Given the description of an element on the screen output the (x, y) to click on. 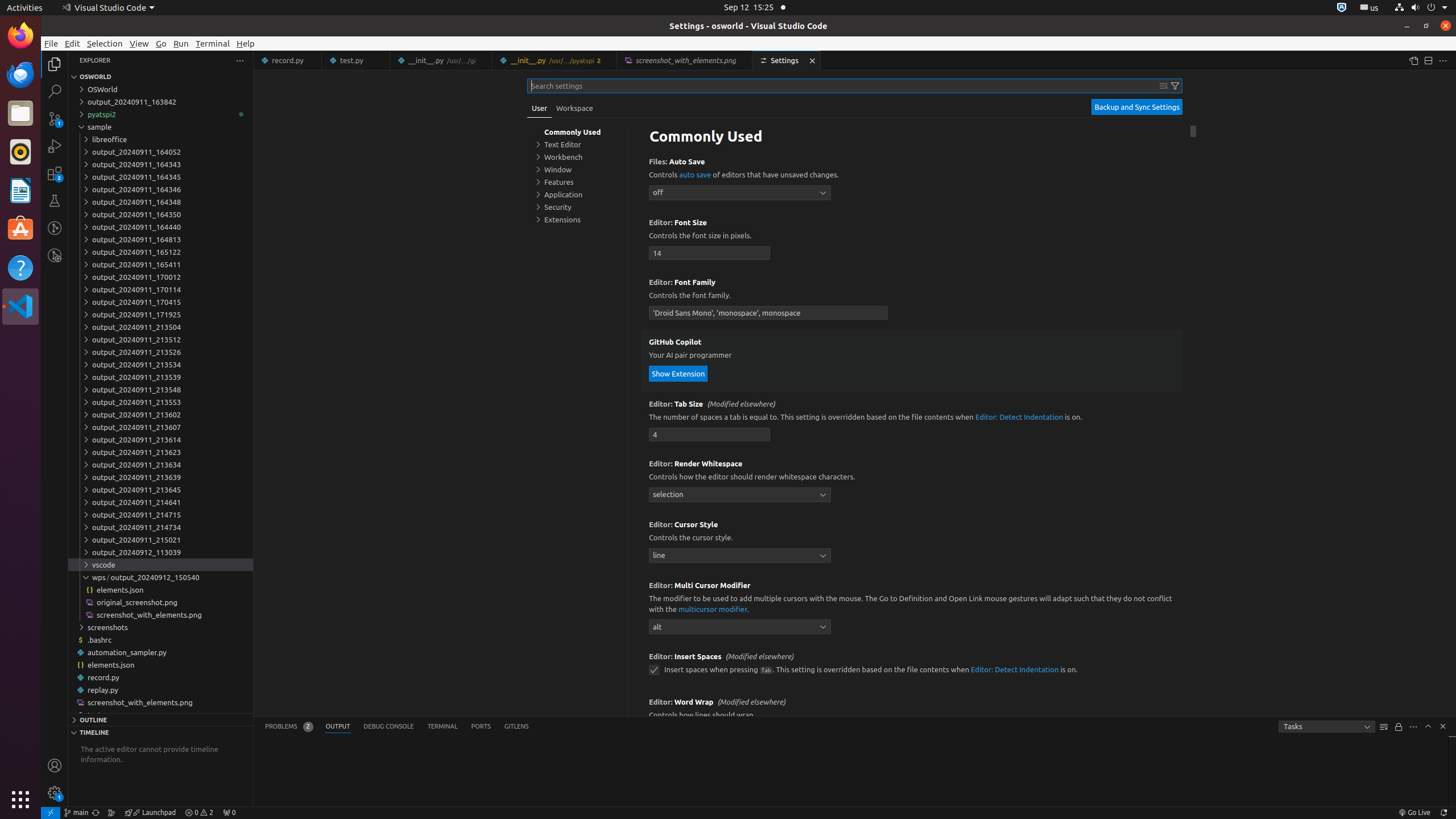
View Element type: push-button (139, 43)
More Actions... Element type: push-button (1442, 60)
Views and More Actions... Element type: push-button (1413, 726)
libreoffice Element type: tree-item (160, 139)
output_20240911_214734 Element type: tree-item (160, 526)
